Given the description of an element on the screen output the (x, y) to click on. 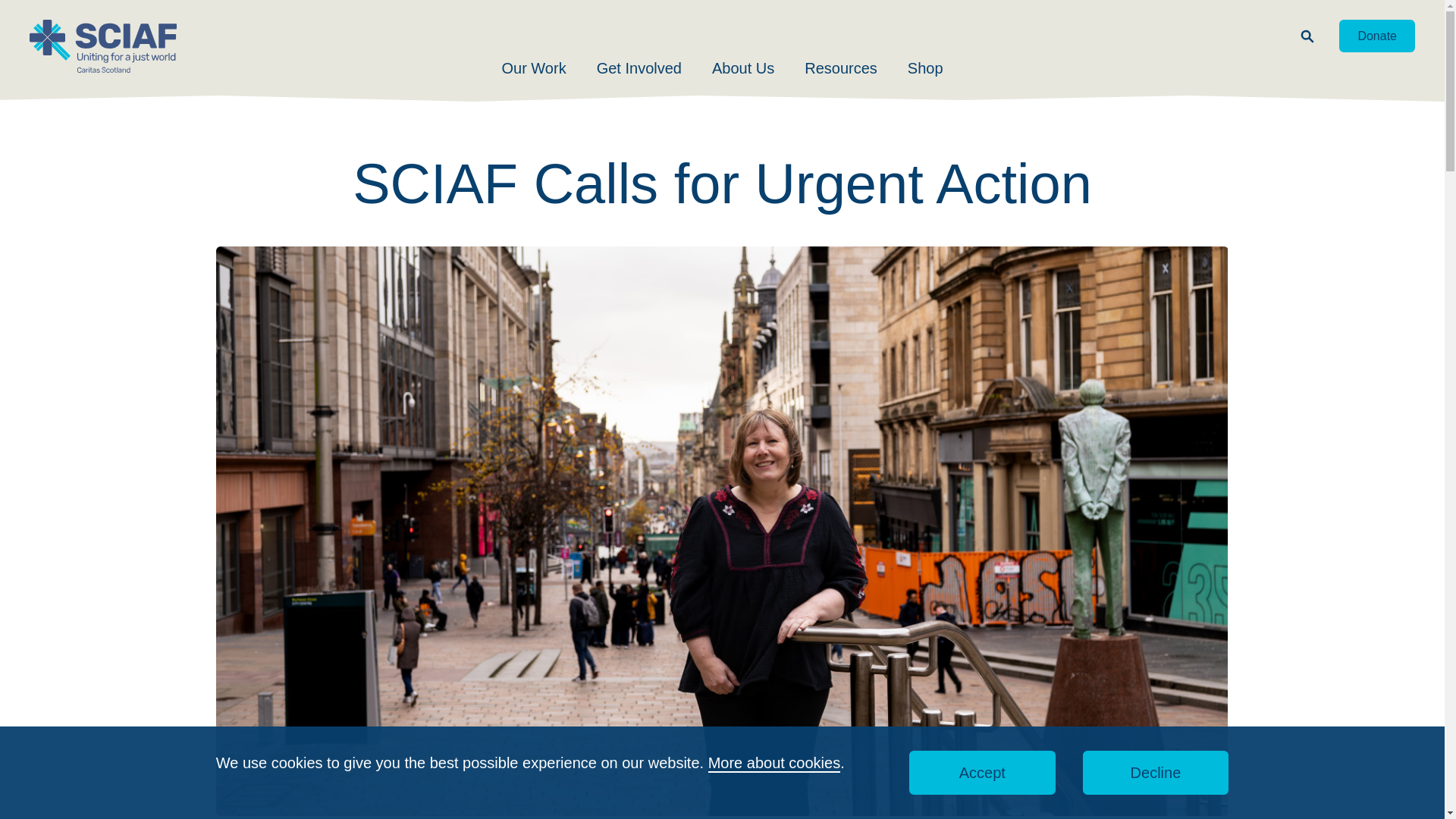
Decline (1155, 772)
Our Work (533, 67)
More about cookies (774, 763)
Donate (1377, 35)
Get Involved (638, 67)
Accept (981, 772)
About Us (742, 67)
Resources (841, 67)
Shop (925, 67)
